Given the description of an element on the screen output the (x, y) to click on. 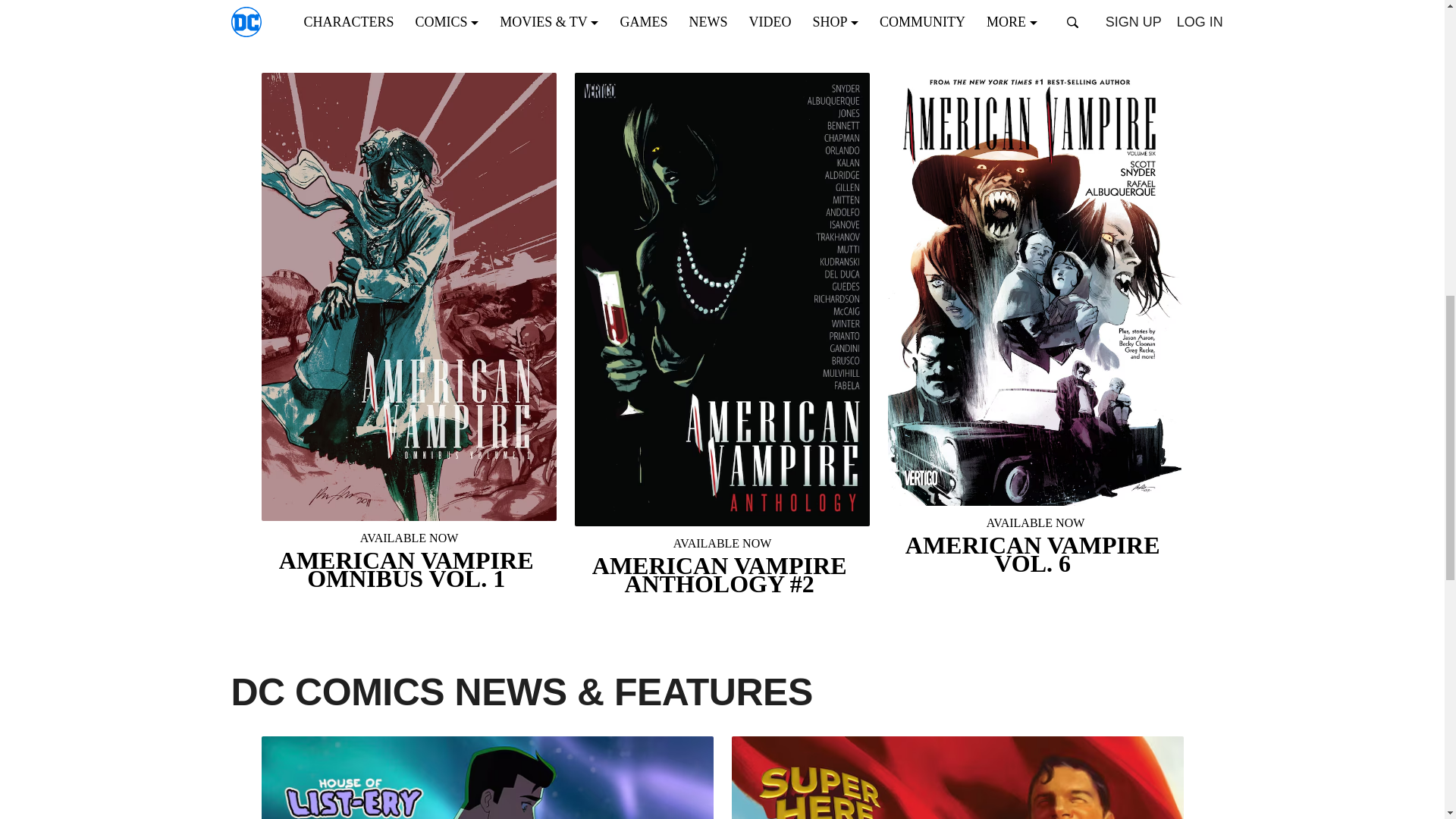
AMERICAN VAMPIRE OMNIBUS VOL. 1 (408, 561)
AMERICAN VAMPIRE VOL. 6 (1034, 546)
